Given the description of an element on the screen output the (x, y) to click on. 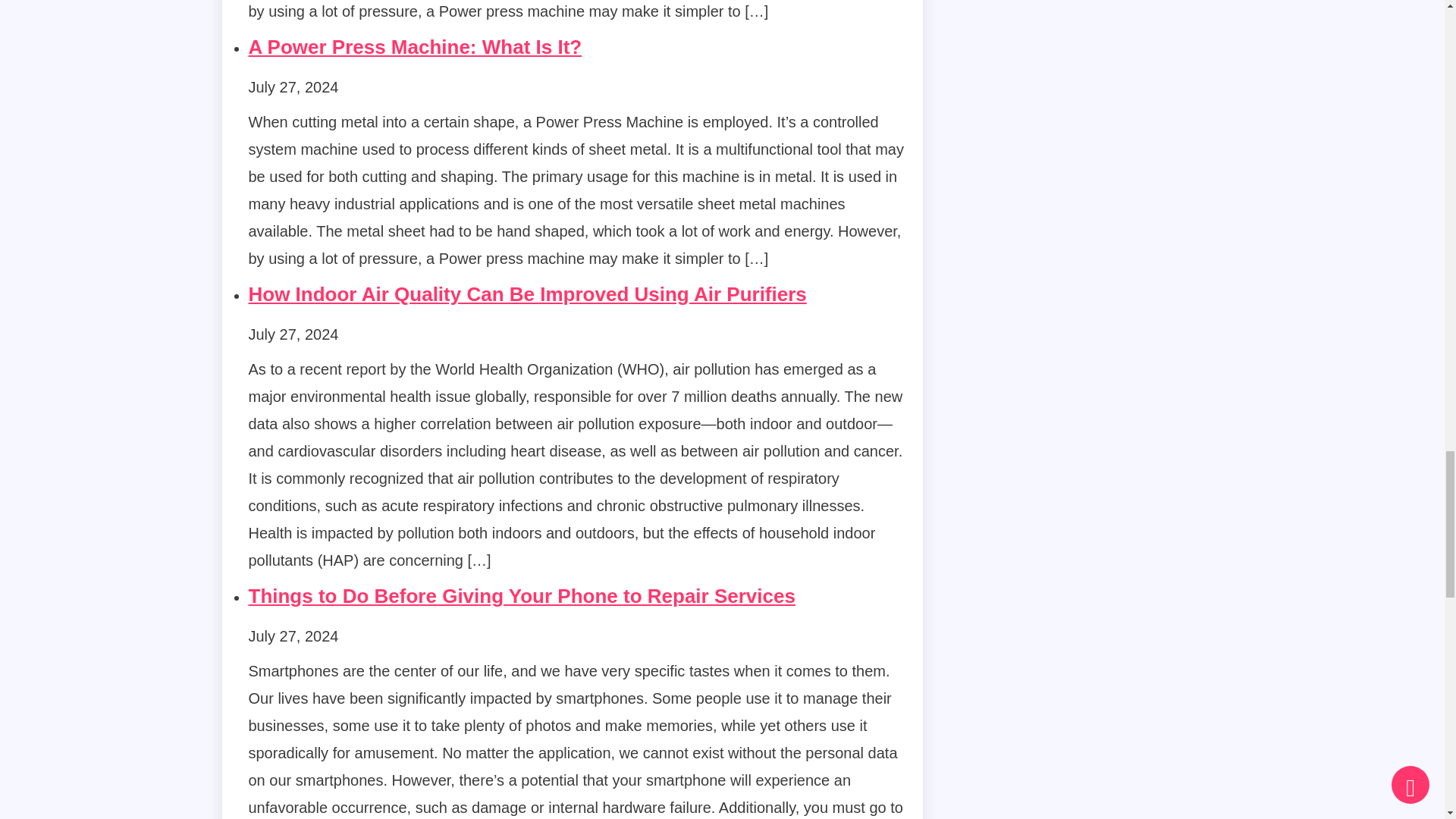
Things to Do Before Giving Your Phone to Repair Services (521, 595)
How Indoor Air Quality Can Be Improved Using Air Purifiers (527, 293)
A Power Press Machine: What Is It? (415, 47)
